Given the description of an element on the screen output the (x, y) to click on. 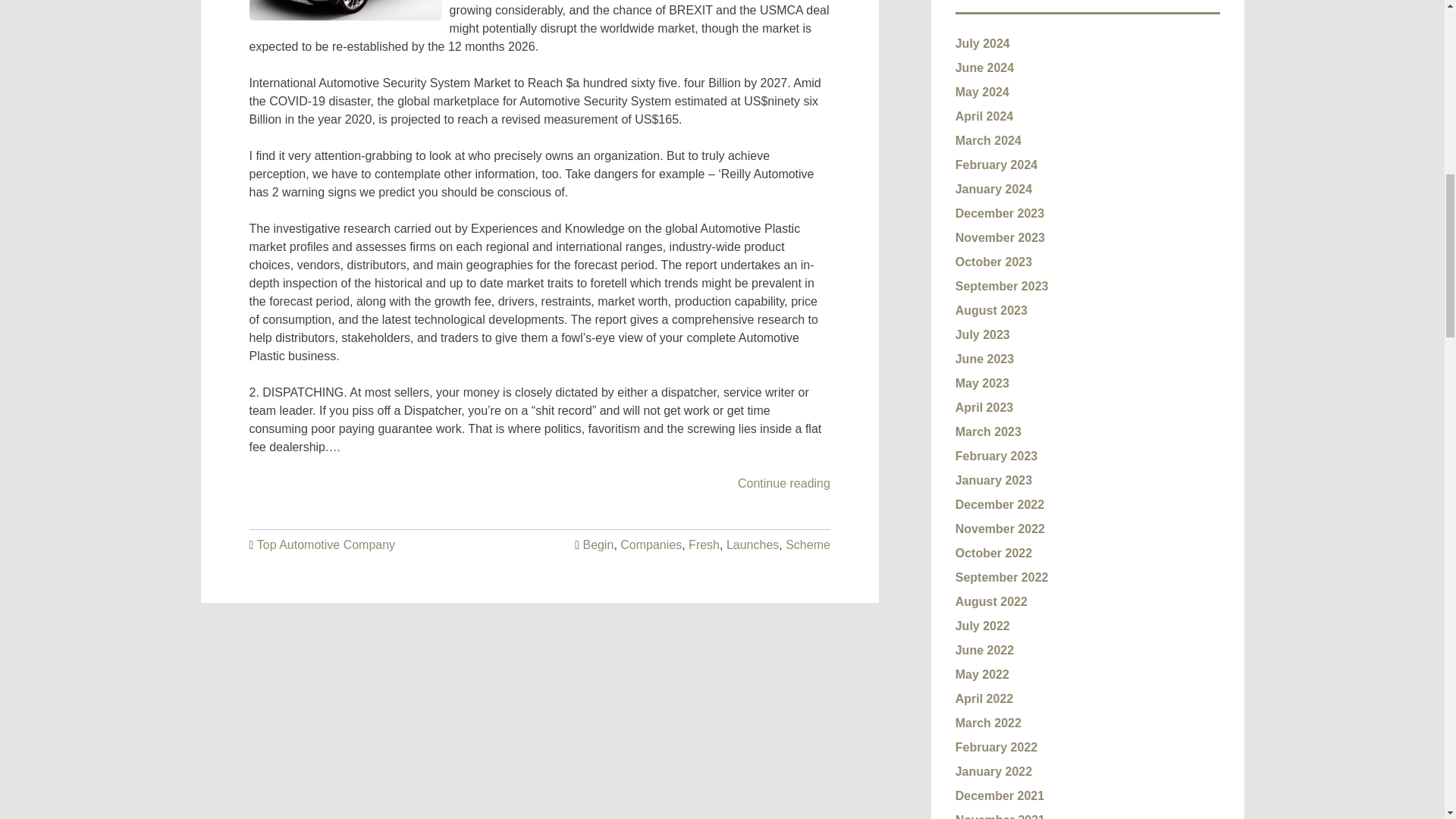
June 2023 (984, 358)
December 2023 (999, 213)
April 2024 (984, 115)
June 2024 (984, 67)
March 2024 (988, 140)
May 2024 (982, 91)
Top Automotive Company (325, 544)
May 2023 (982, 382)
July 2024 (982, 42)
February 2024 (996, 164)
Begin (597, 544)
September 2023 (1001, 286)
January 2024 (993, 188)
Fresh (703, 544)
